Given the description of an element on the screen output the (x, y) to click on. 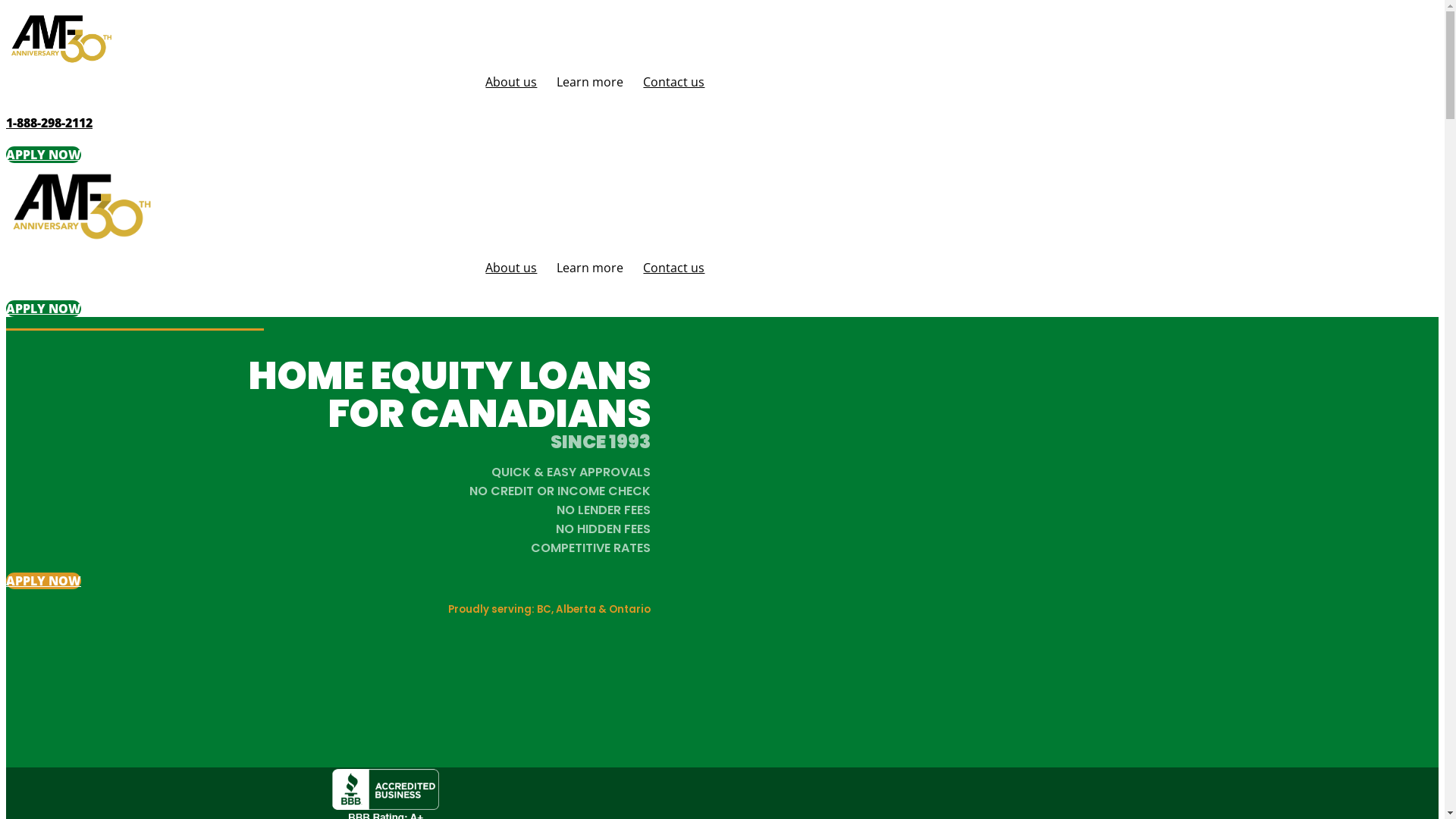
Contact us Element type: text (673, 81)
About us Element type: text (510, 81)
APPLY NOW Element type: text (43, 308)
APPLY NOW Element type: text (43, 154)
Learn more Element type: text (589, 81)
1-888-298-2112 Element type: text (49, 122)
Contact us Element type: text (673, 267)
APPLY NOW Element type: text (43, 580)
Learn more Element type: text (589, 267)
Skip to content Element type: text (5, 5)
About us Element type: text (510, 267)
